Given the description of an element on the screen output the (x, y) to click on. 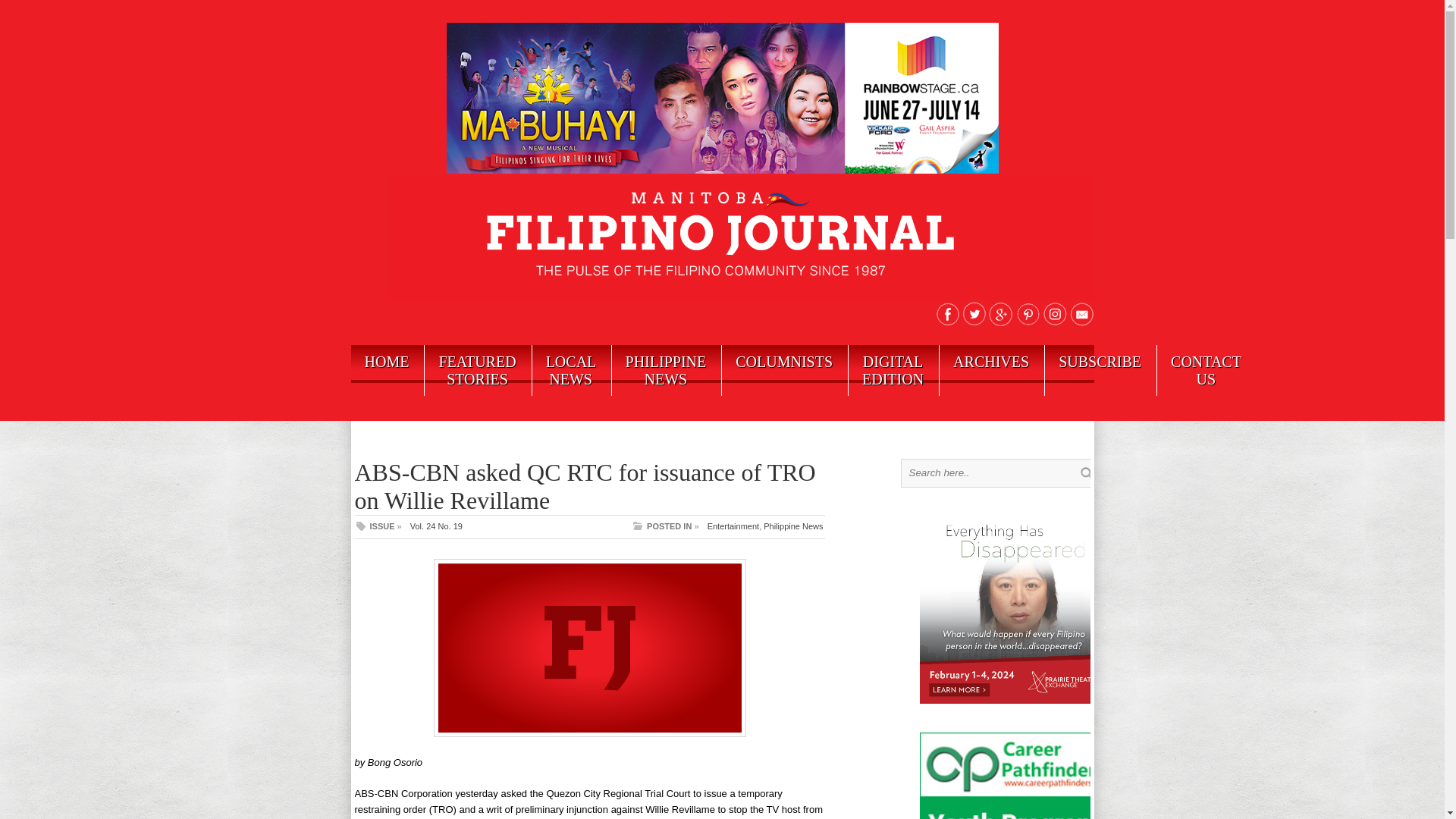
FEATURED STORIES (477, 369)
Search here.. (993, 472)
CONTACT US (1205, 369)
thumbnail latest (589, 647)
thumbnail latest (589, 733)
ARCHIVES (990, 361)
LOCAL NEWS (571, 369)
HOME (386, 361)
PHILIPPINE NEWS (665, 369)
Entertainment (732, 525)
